Given the description of an element on the screen output the (x, y) to click on. 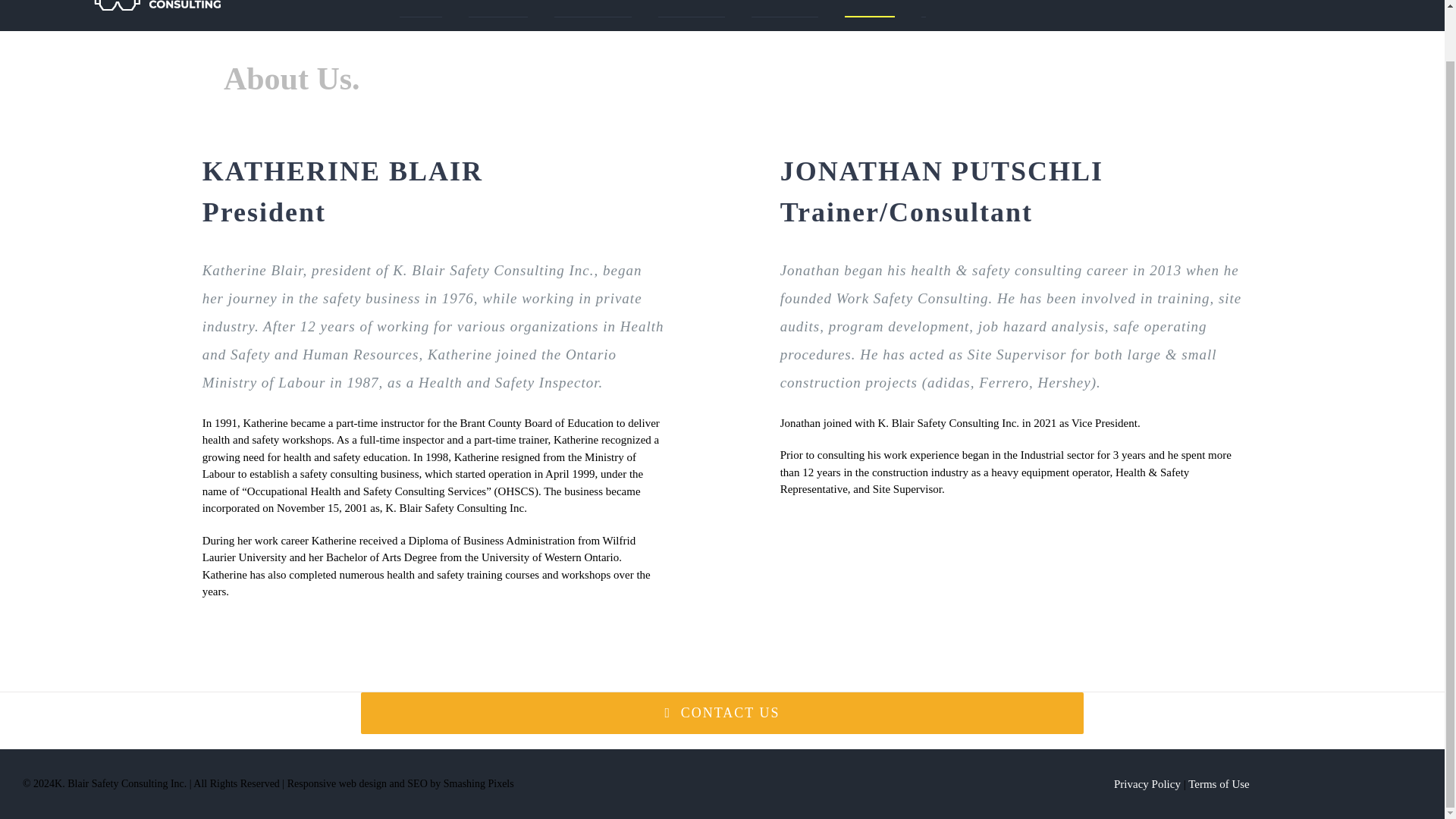
CLIENTS (497, 8)
SERVICES (691, 8)
HOME (420, 8)
Privacy Policy (1146, 784)
Terms of Use (1218, 784)
CONTACT US (722, 712)
CONTACT (784, 8)
COURSES (592, 8)
ABOUT (868, 8)
